Given the description of an element on the screen output the (x, y) to click on. 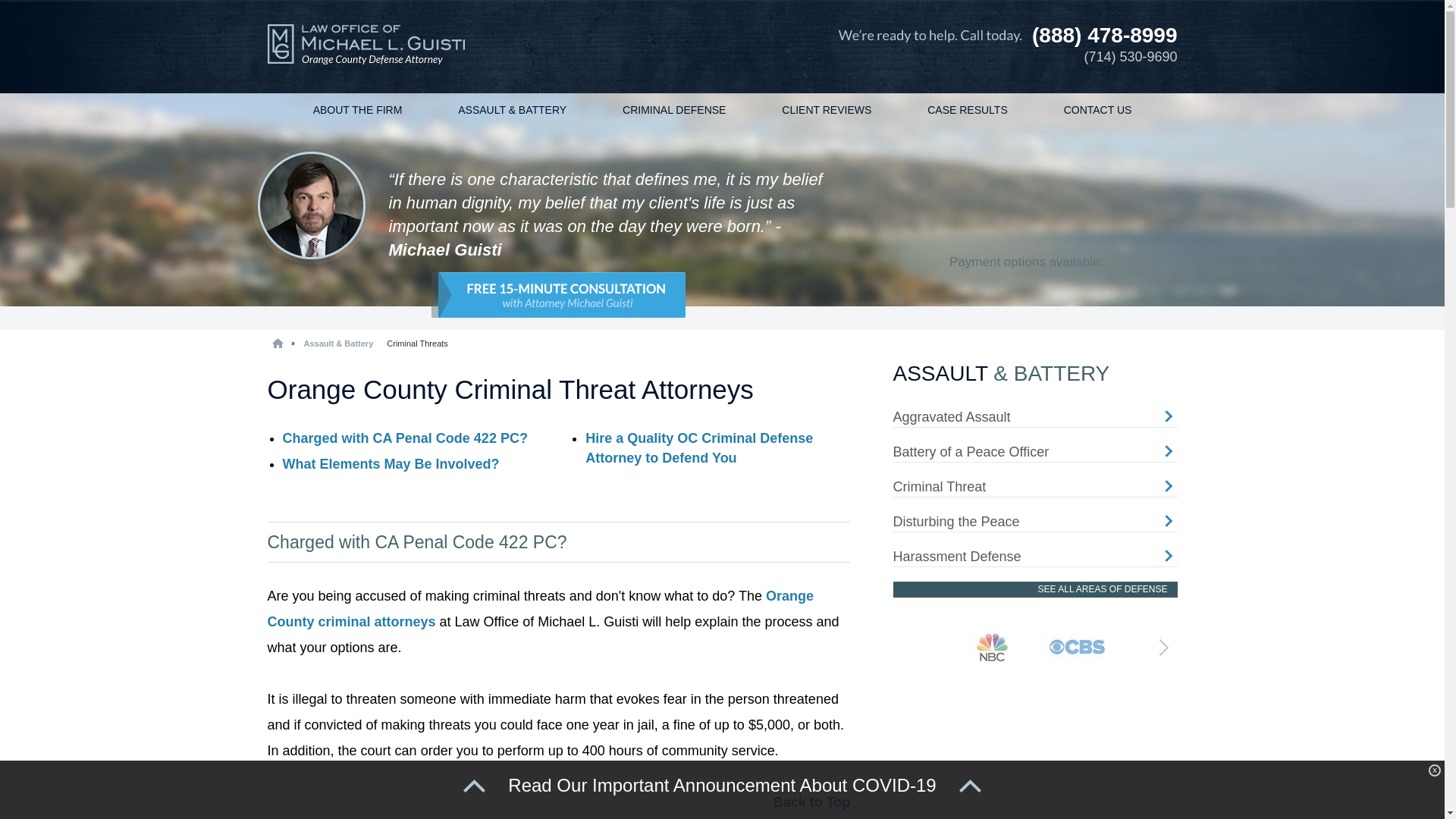
ABOUT THE FIRM (357, 110)
Read Our Important Announcement About COVID-19 (722, 784)
CRIMINAL DEFENSE (673, 110)
close announcement (1434, 770)
Law Office of Michael L. Guisti (365, 46)
